Given the description of an element on the screen output the (x, y) to click on. 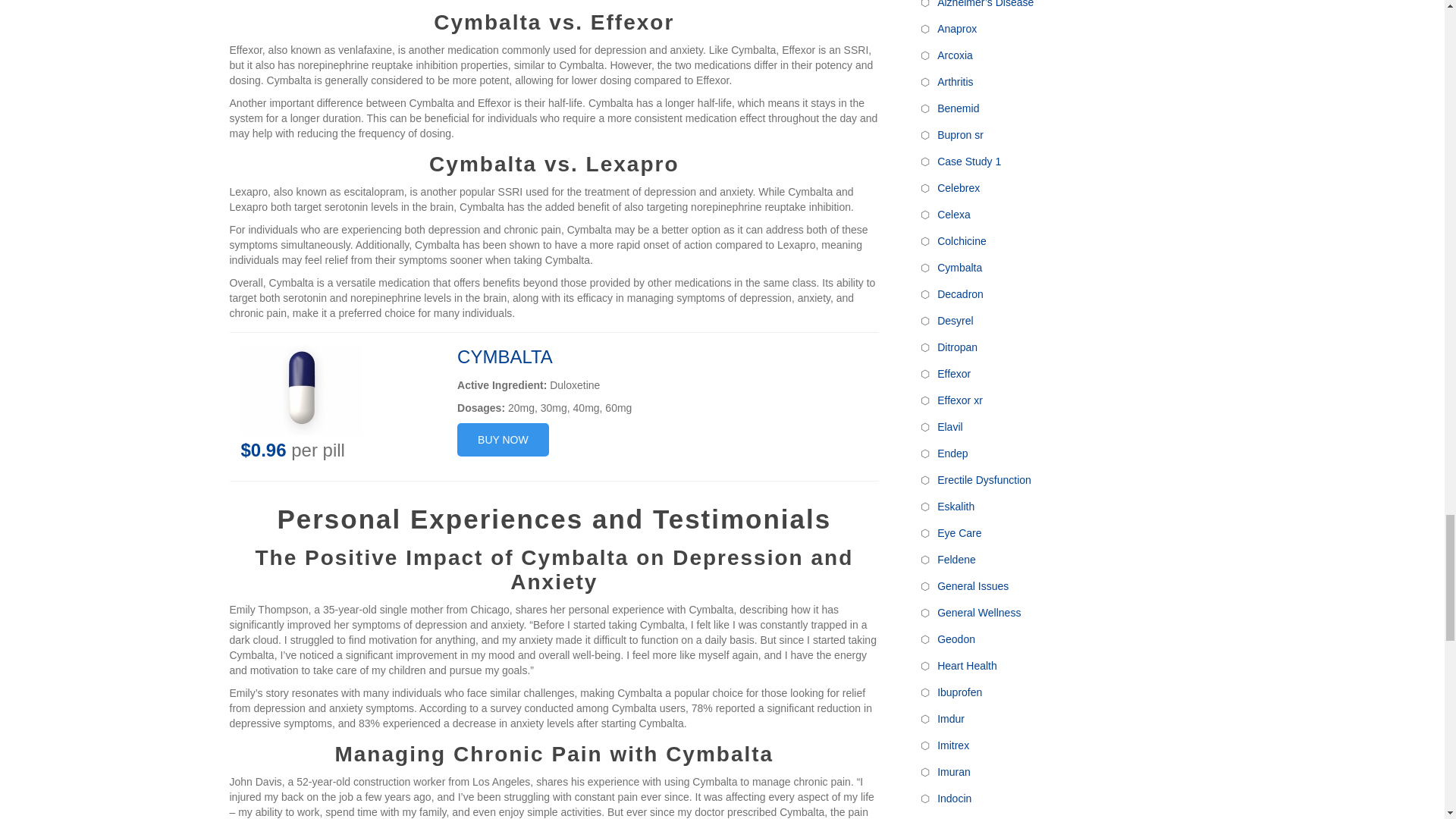
BUY NOW (502, 439)
